Given the description of an element on the screen output the (x, y) to click on. 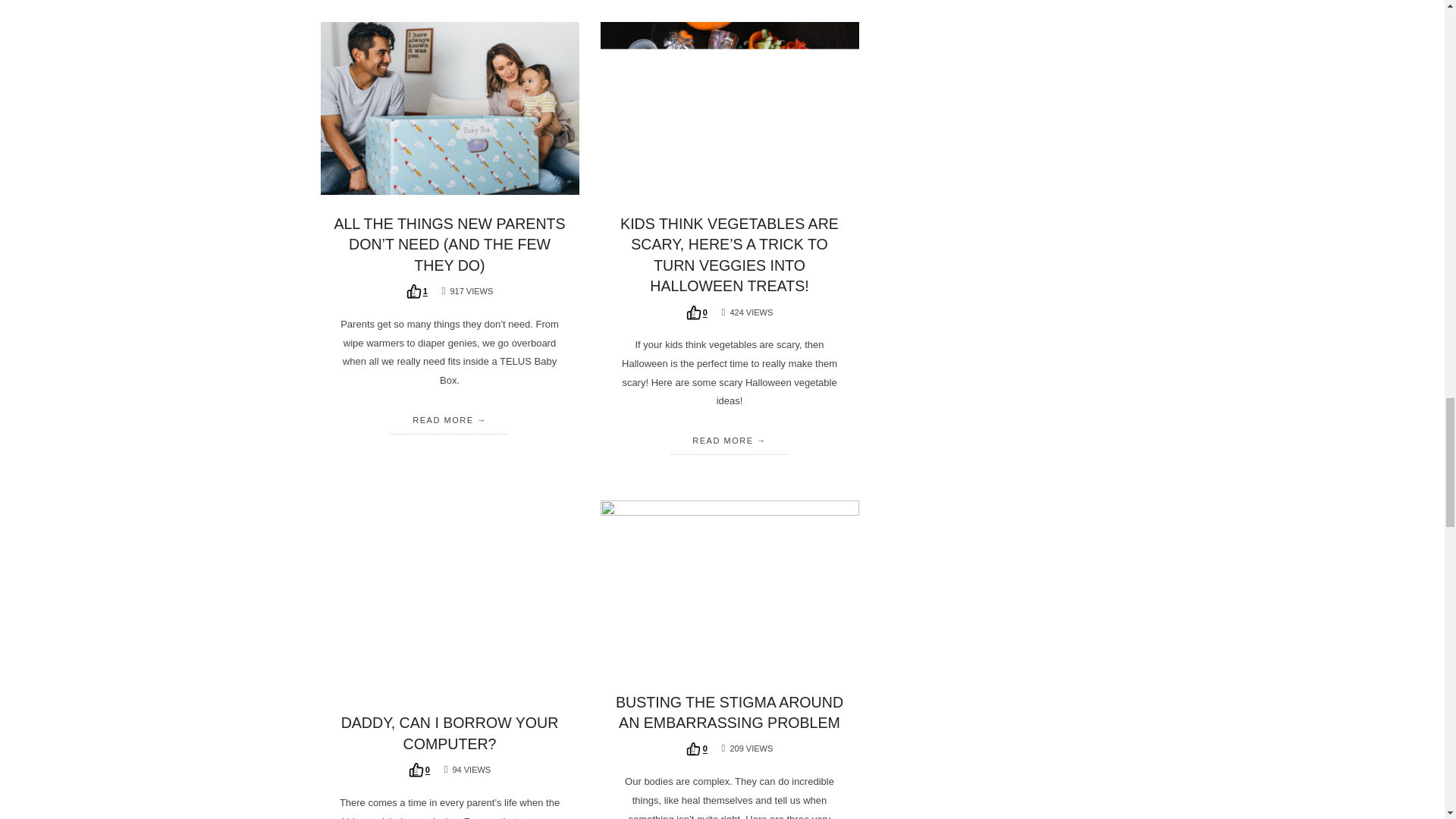
Recommend this (696, 748)
Recommend this (417, 291)
Recommend this (419, 769)
Recommend this (696, 312)
